Given the description of an element on the screen output the (x, y) to click on. 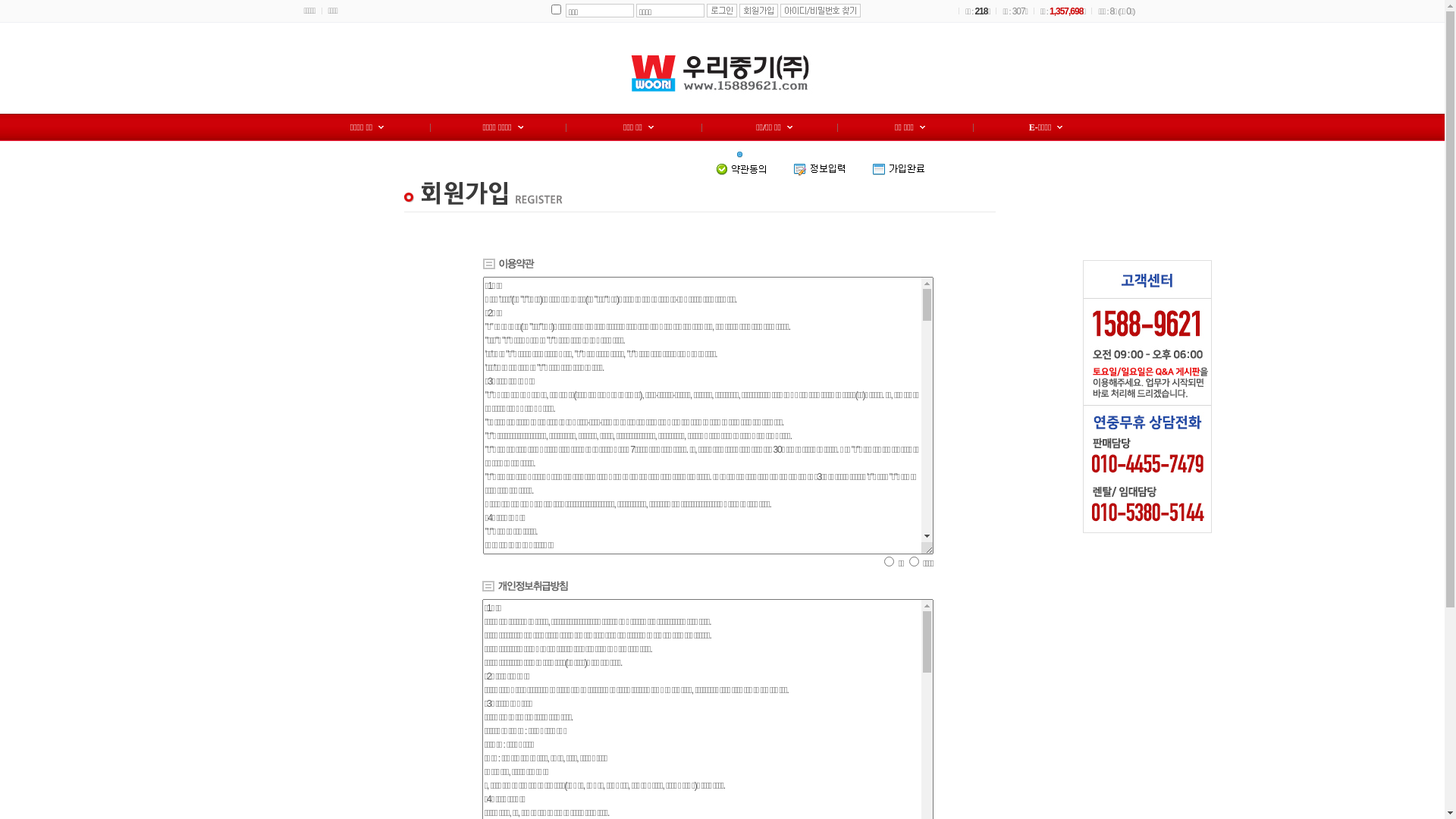
1 Element type: text (556, 9)
